Given the description of an element on the screen output the (x, y) to click on. 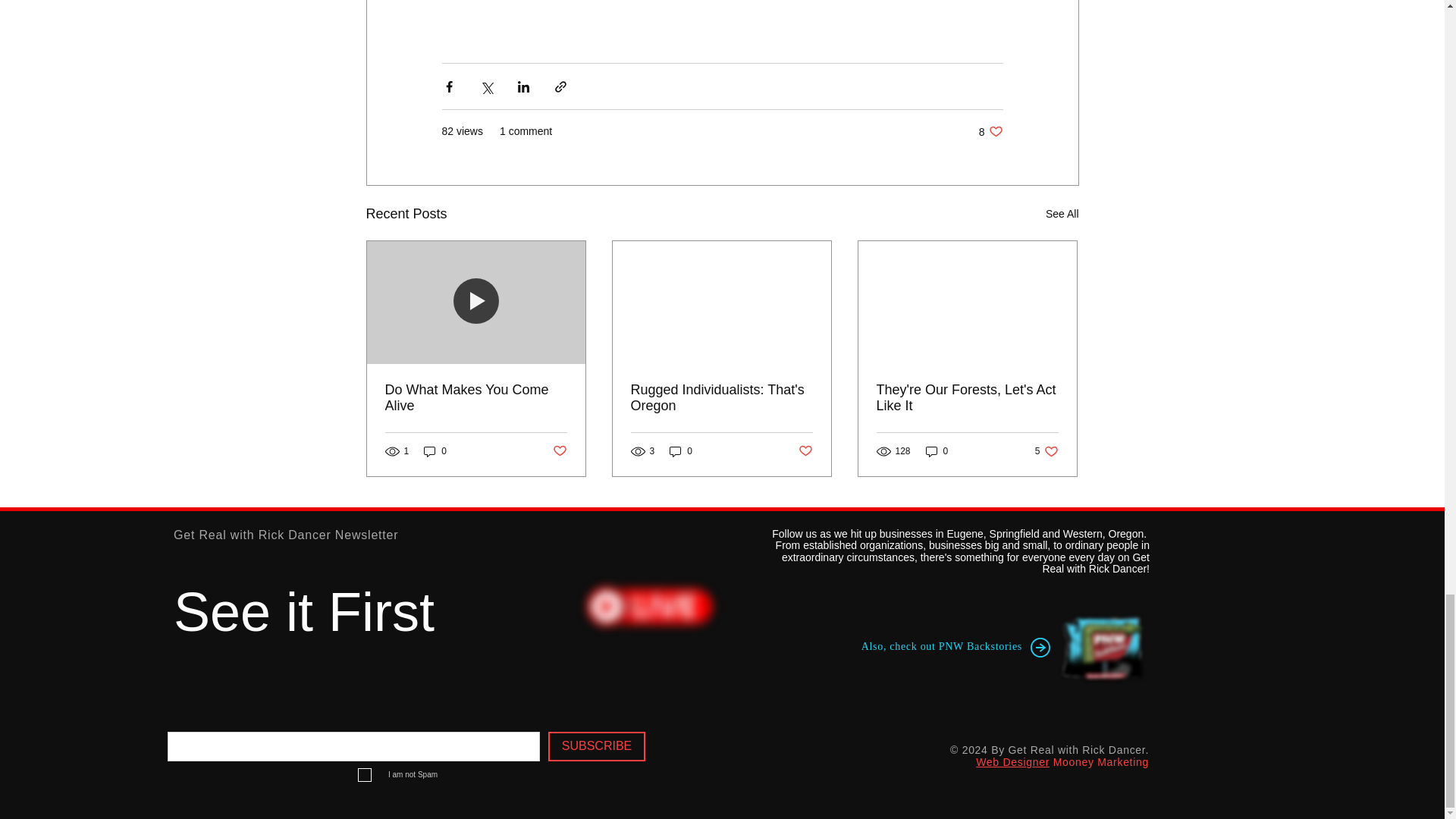
0 (1046, 450)
0 (681, 450)
See All (937, 450)
Post not marked as liked (1061, 214)
Post not marked as liked (804, 451)
They're Our Forests, Let's Act Like It (990, 131)
Rugged Individualists: That's Oregon (558, 451)
0 (967, 398)
Do What Makes You Come Alive (721, 398)
